Given the description of an element on the screen output the (x, y) to click on. 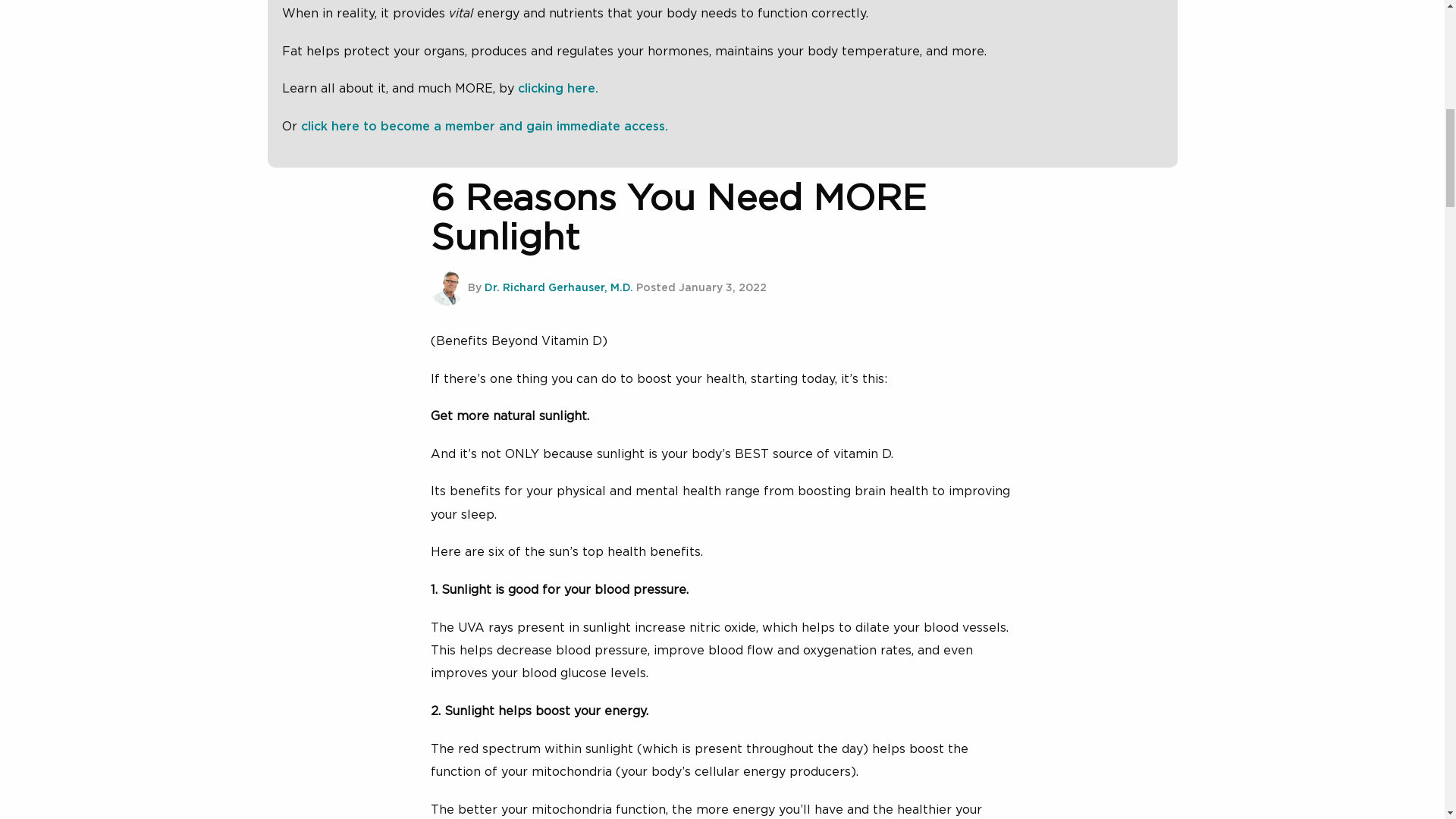
click here to become a member and gain immediate access. (484, 126)
clicking here. (558, 88)
Dr. Richard Gerhauser, M.D. (557, 287)
